Given the description of an element on the screen output the (x, y) to click on. 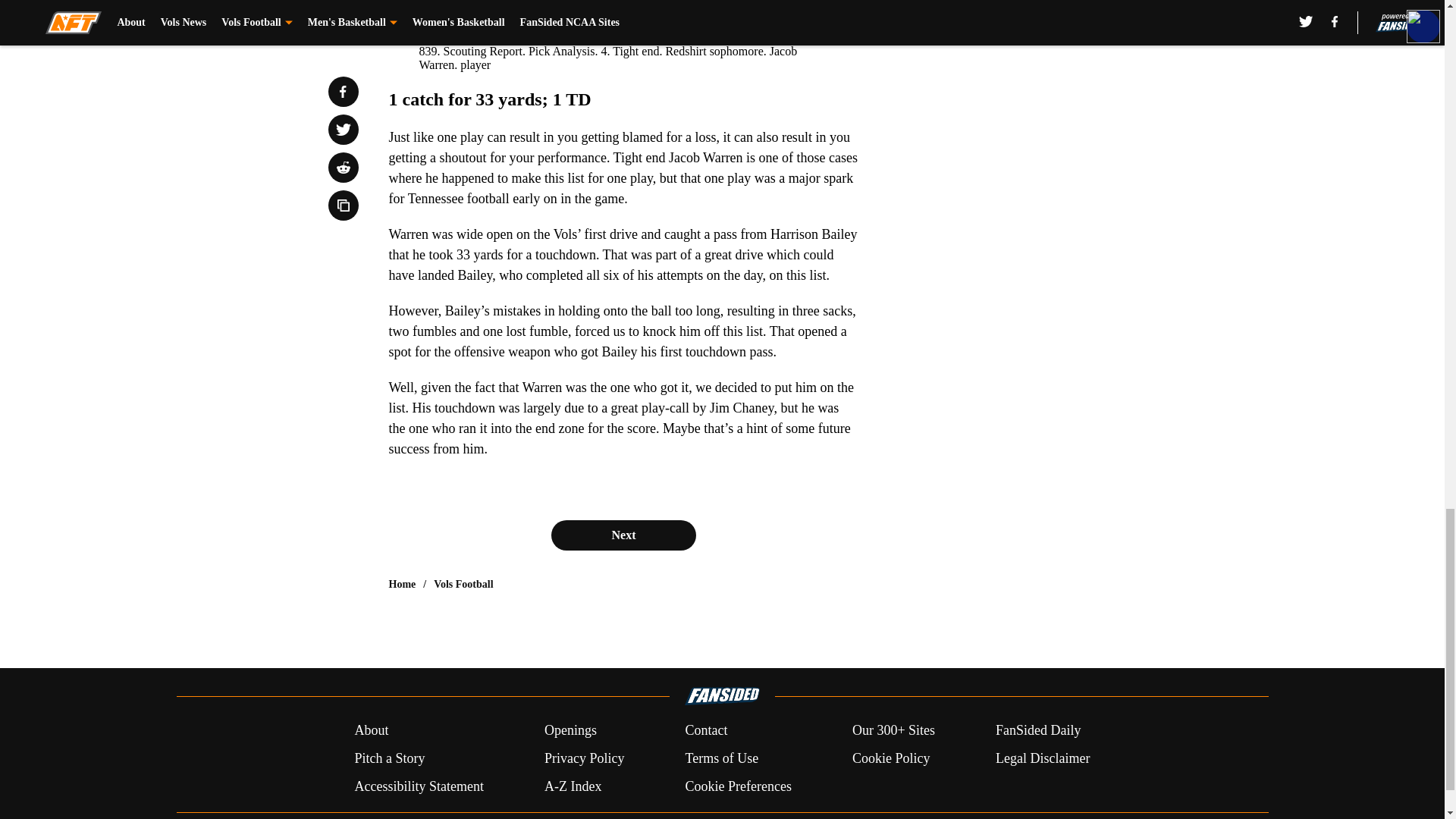
Privacy Policy (584, 758)
Openings (570, 730)
Terms of Use (721, 758)
Cookie Policy (890, 758)
Vols Football (463, 584)
FanSided Daily (1038, 730)
About (370, 730)
Pitch a Story (389, 758)
Contact (705, 730)
Next (622, 535)
